Given the description of an element on the screen output the (x, y) to click on. 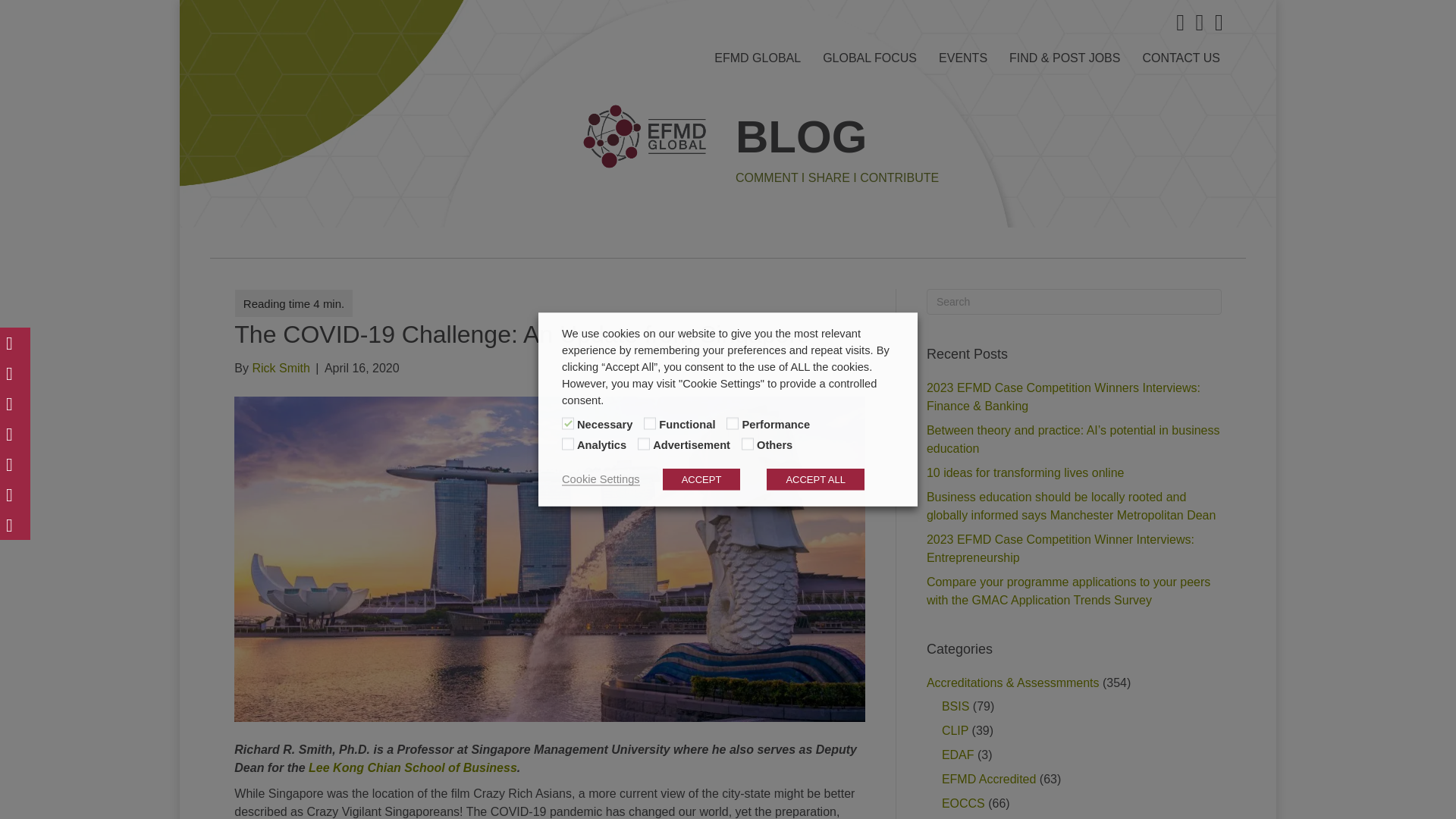
EOCCS (963, 802)
Facebook (15, 433)
on (567, 423)
CLIP (955, 730)
EFMD Accredited (988, 779)
Pinterest (15, 463)
EVENTS (962, 58)
EDAF (958, 754)
Lee Kong Chian School of Business (412, 767)
EFMD-Global-H-Pantone (644, 136)
